Given the description of an element on the screen output the (x, y) to click on. 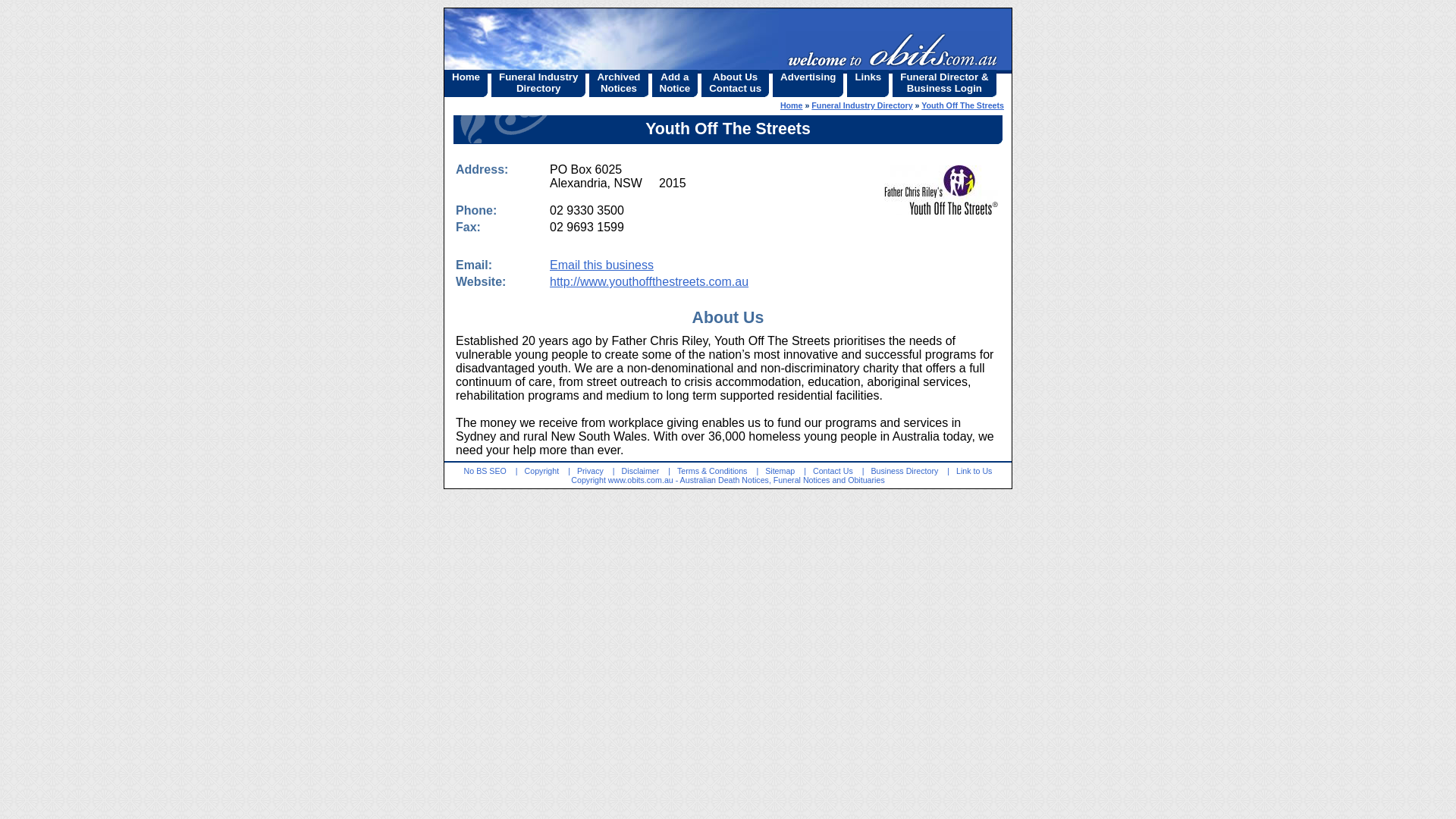
Home Element type: text (465, 83)
Business Directory Element type: text (903, 470)
Home Element type: text (791, 104)
www.obits.com.au Element type: text (640, 479)
Terms & Conditions Element type: text (711, 470)
Contact Us Element type: text (832, 470)
Link to Us Element type: text (973, 470)
Advertising Element type: text (807, 83)
About Us
Contact us Element type: text (734, 83)
No BS SEO Element type: text (485, 470)
Add a
Notice Element type: text (675, 83)
Email this business Element type: text (601, 264)
Archived
Notices Element type: text (618, 83)
Youth Off The Streets Element type: text (962, 104)
Funeral Director &
Business Login Element type: text (943, 83)
http://www.youthoffthestreets.com.au Element type: text (648, 281)
Disclaimer Element type: text (640, 470)
Funeral Industry Directory Element type: text (861, 104)
Copyright Element type: text (541, 470)
Links Element type: text (867, 83)
Privacy Element type: text (590, 470)
Sitemap Element type: text (779, 470)
Funeral Industry
Directory Element type: text (538, 83)
